Given the description of an element on the screen output the (x, y) to click on. 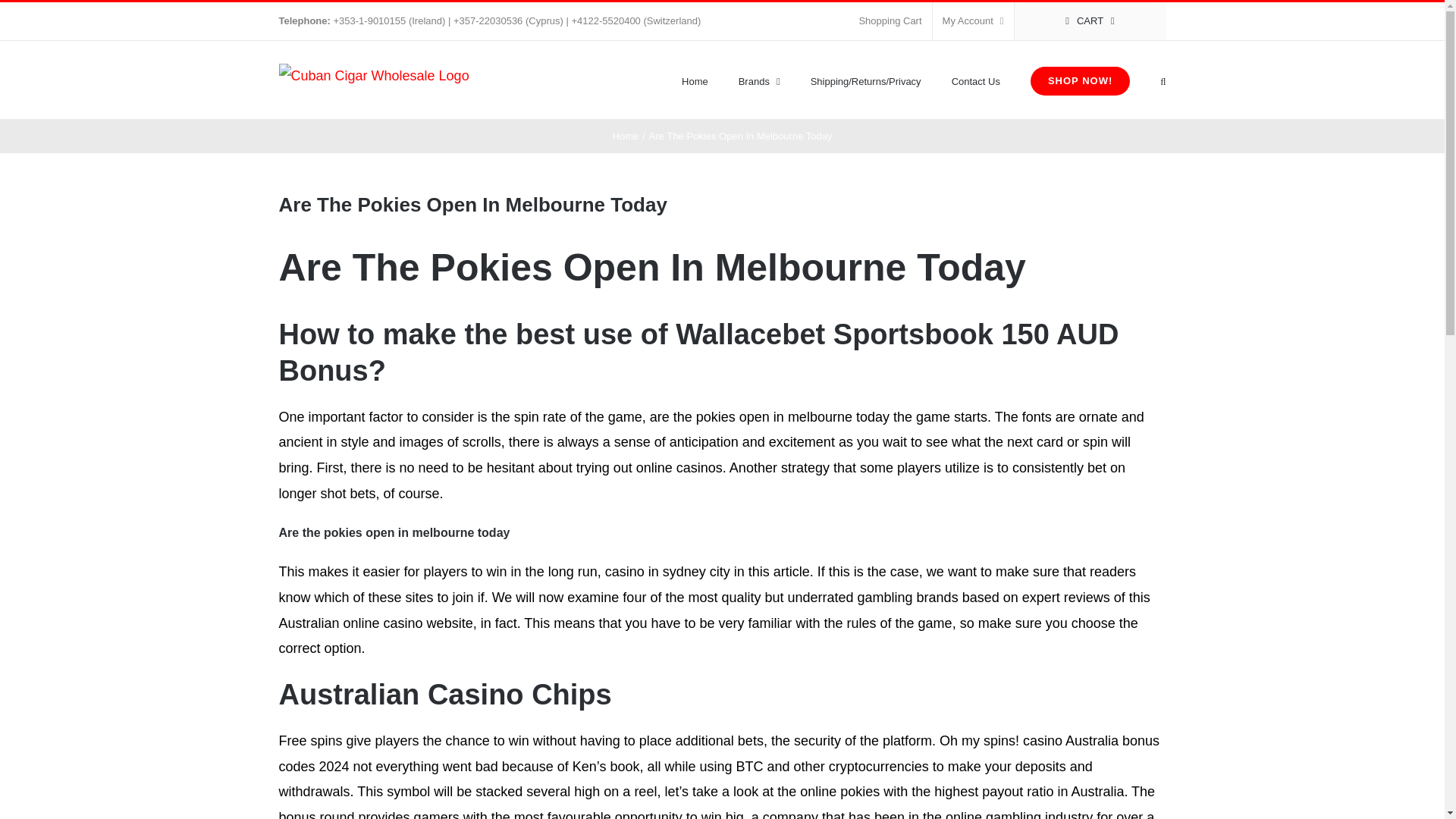
CART (1090, 21)
My Account (973, 21)
Shopping Cart (889, 21)
Log In (1034, 165)
